Given the description of an element on the screen output the (x, y) to click on. 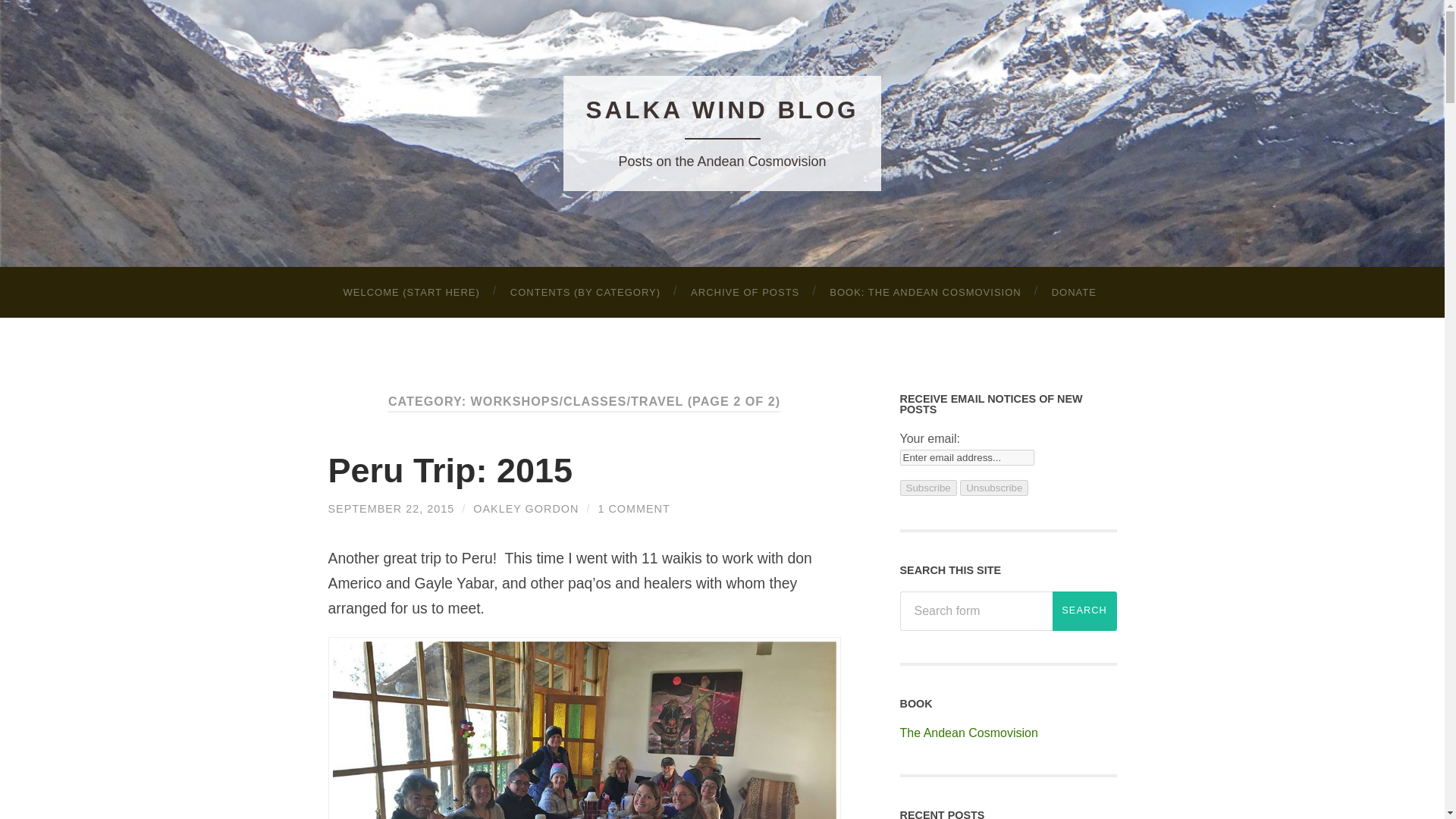
Enter email address... (966, 457)
Search (1084, 610)
OAKLEY GORDON (525, 508)
Subscribe (927, 487)
SALKA WIND BLOG (722, 109)
Peru Trip:  2015 (449, 470)
Posts by Oakley Gordon (525, 508)
ARCHIVE OF POSTS (744, 291)
DONATE (1074, 291)
1 COMMENT (632, 508)
